Given the description of an element on the screen output the (x, y) to click on. 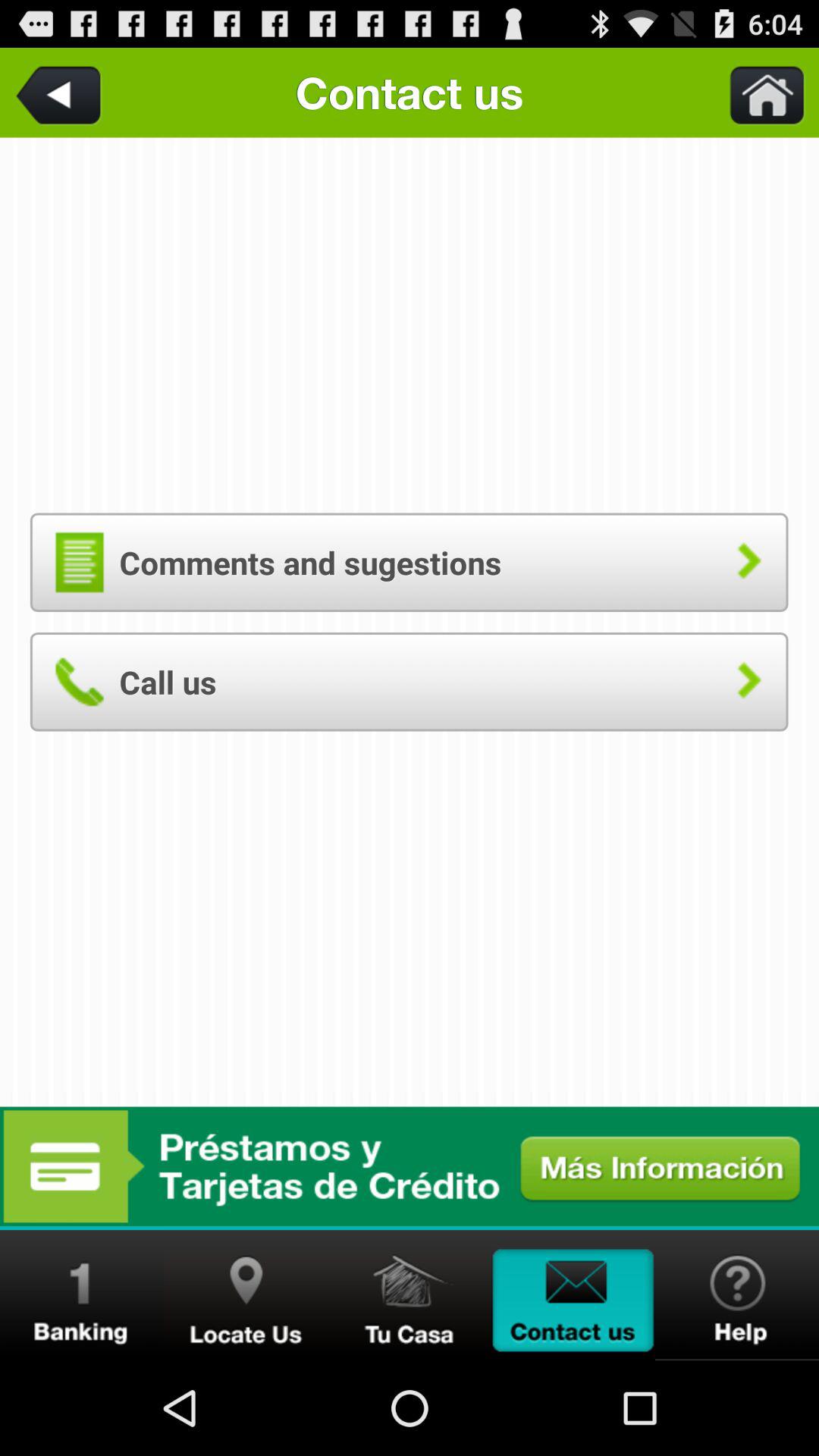
get assistance on a problem with the app (737, 1295)
